Given the description of an element on the screen output the (x, y) to click on. 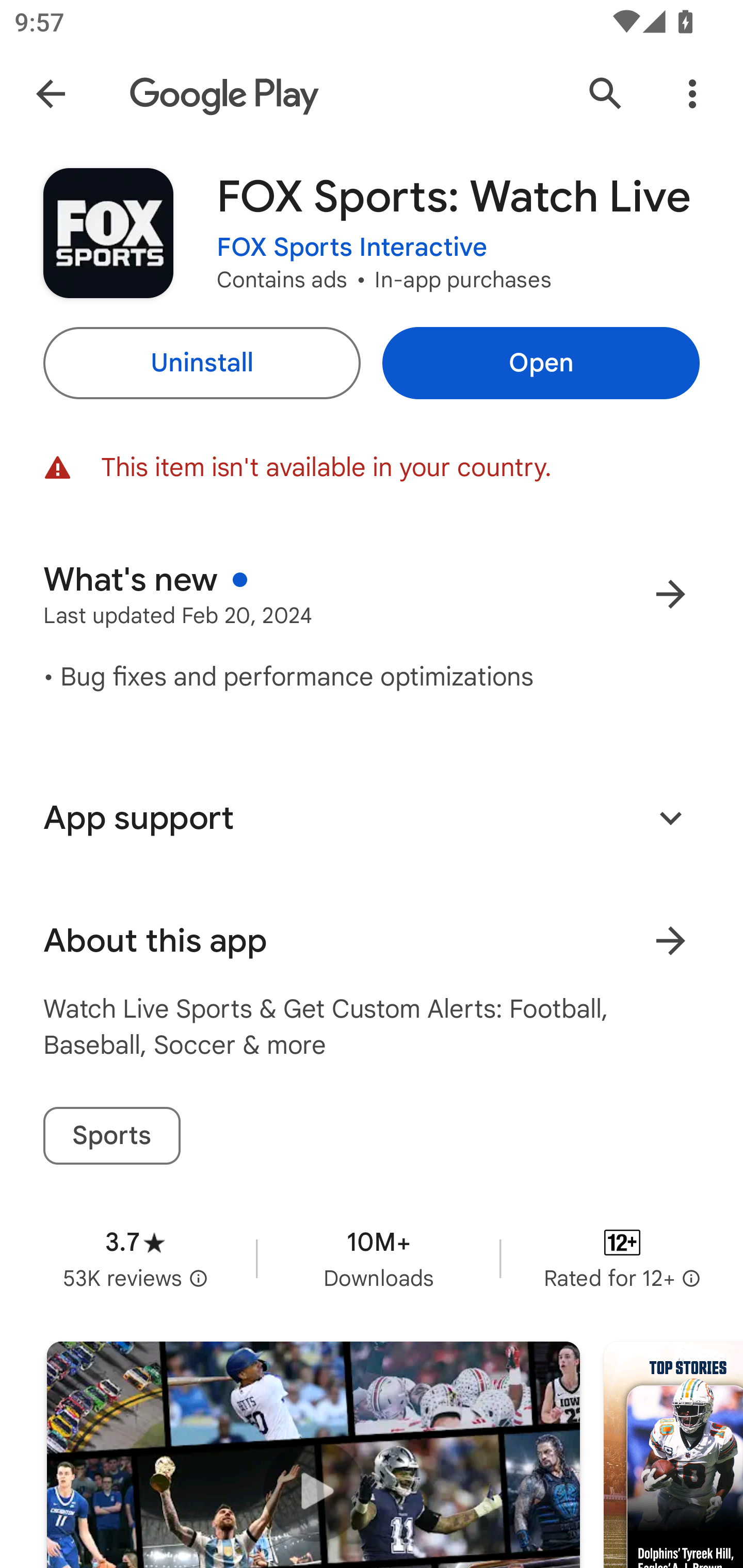
Navigate up (50, 93)
Search Google Play (605, 93)
More Options (692, 93)
FOX Sports Interactive (351, 247)
Uninstall (201, 362)
Open (540, 362)
More results for What's new (670, 594)
App support Expand (371, 817)
Expand (670, 817)
About this app Learn more About this app (371, 940)
Learn more About this app (670, 940)
Sports tag (111, 1135)
Average rating 3.7 stars in 53 thousand reviews (135, 1258)
Content rating Rated for 12+ (622, 1258)
Play trailer for "FOX Sports: Watch Live" (313, 1455)
